Given the description of an element on the screen output the (x, y) to click on. 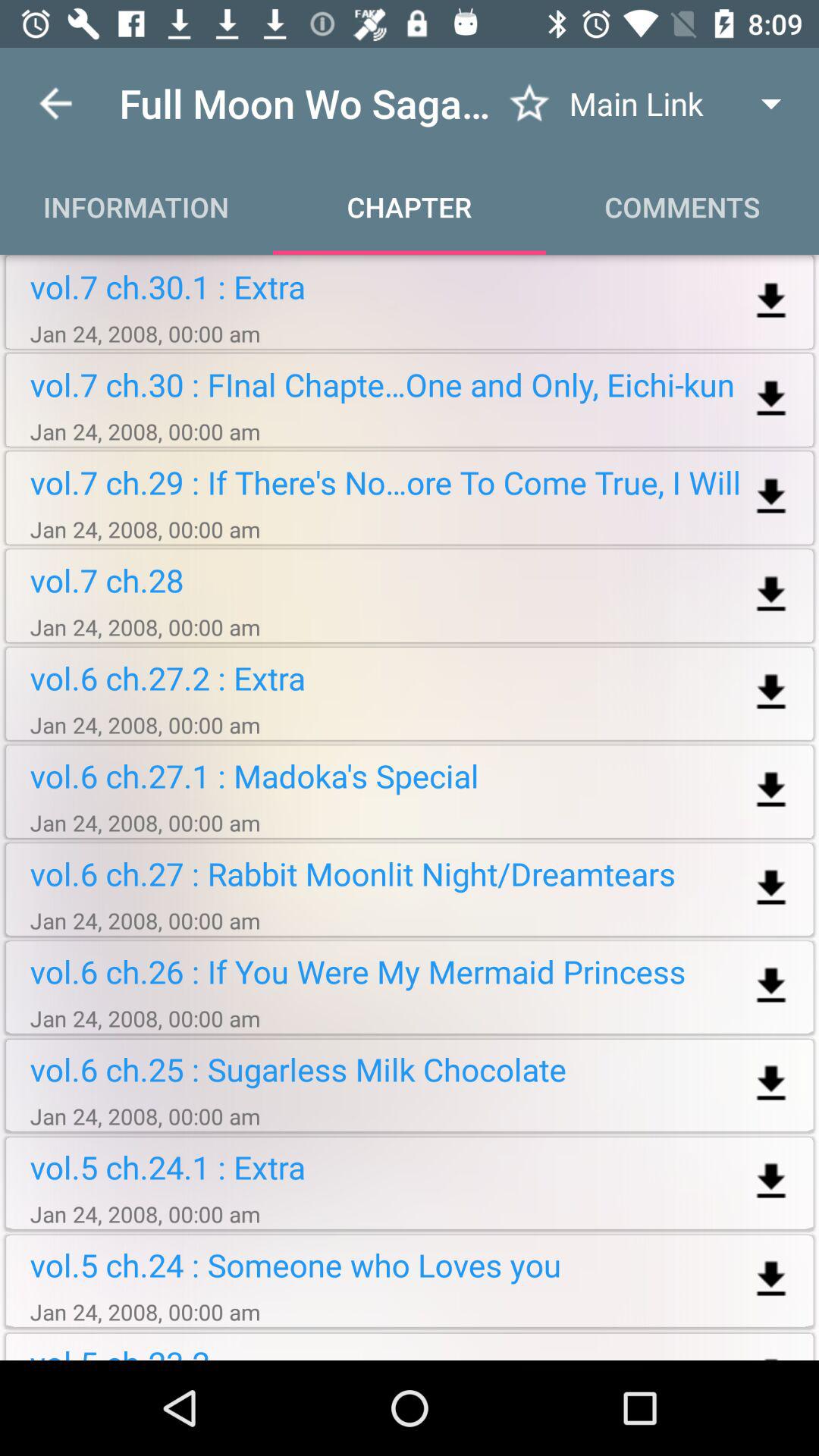
download selected (771, 1181)
